Given the description of an element on the screen output the (x, y) to click on. 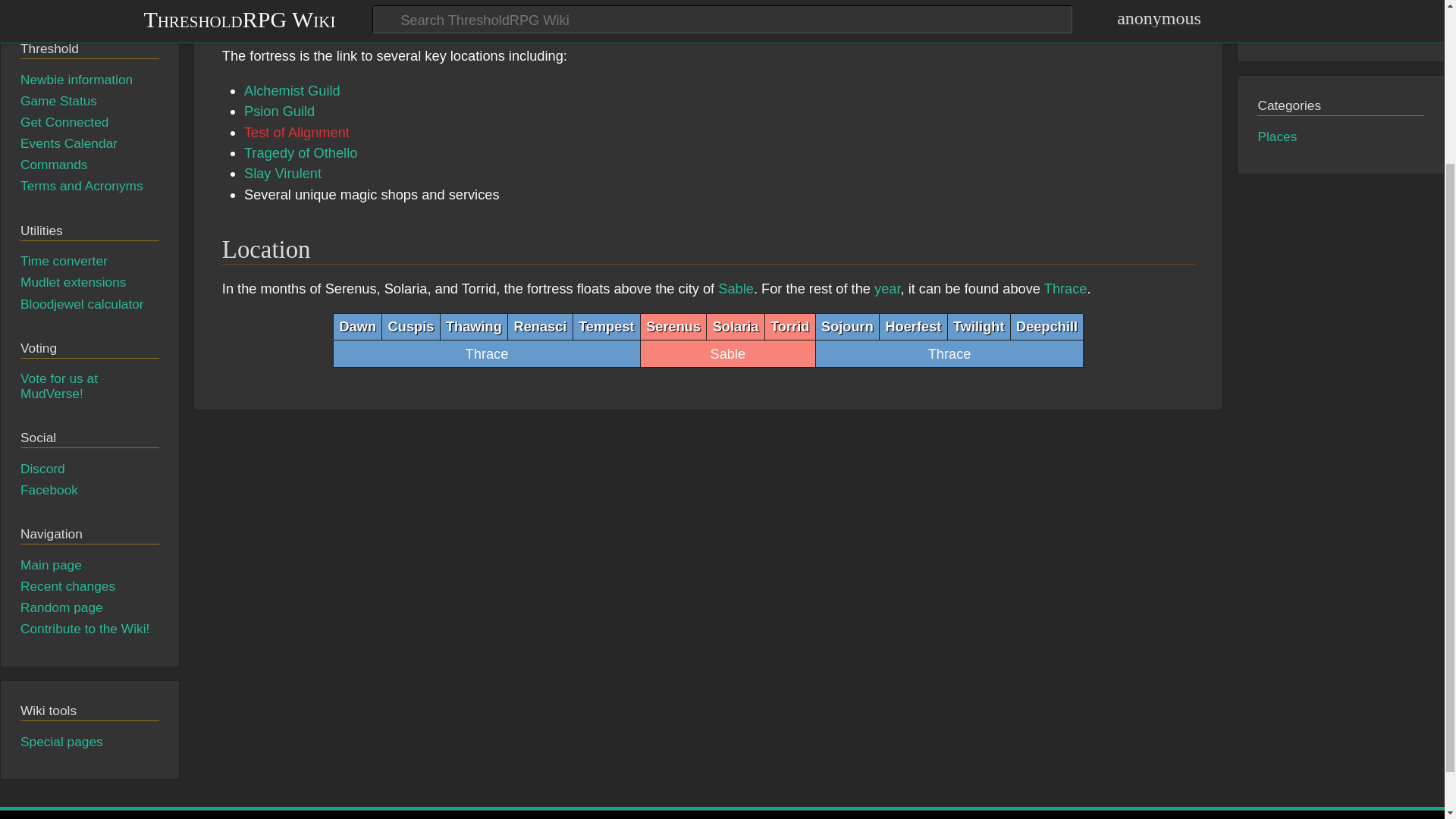
Tragedy of Othello (300, 152)
Slay Virulent (282, 172)
Mudlet extensions (73, 281)
Main page (50, 564)
Tragedy of Othello (300, 152)
Thrace (1065, 288)
Terms and Acronyms (81, 185)
Psion Guild (279, 110)
Time converter (63, 260)
year (887, 288)
